Given the description of an element on the screen output the (x, y) to click on. 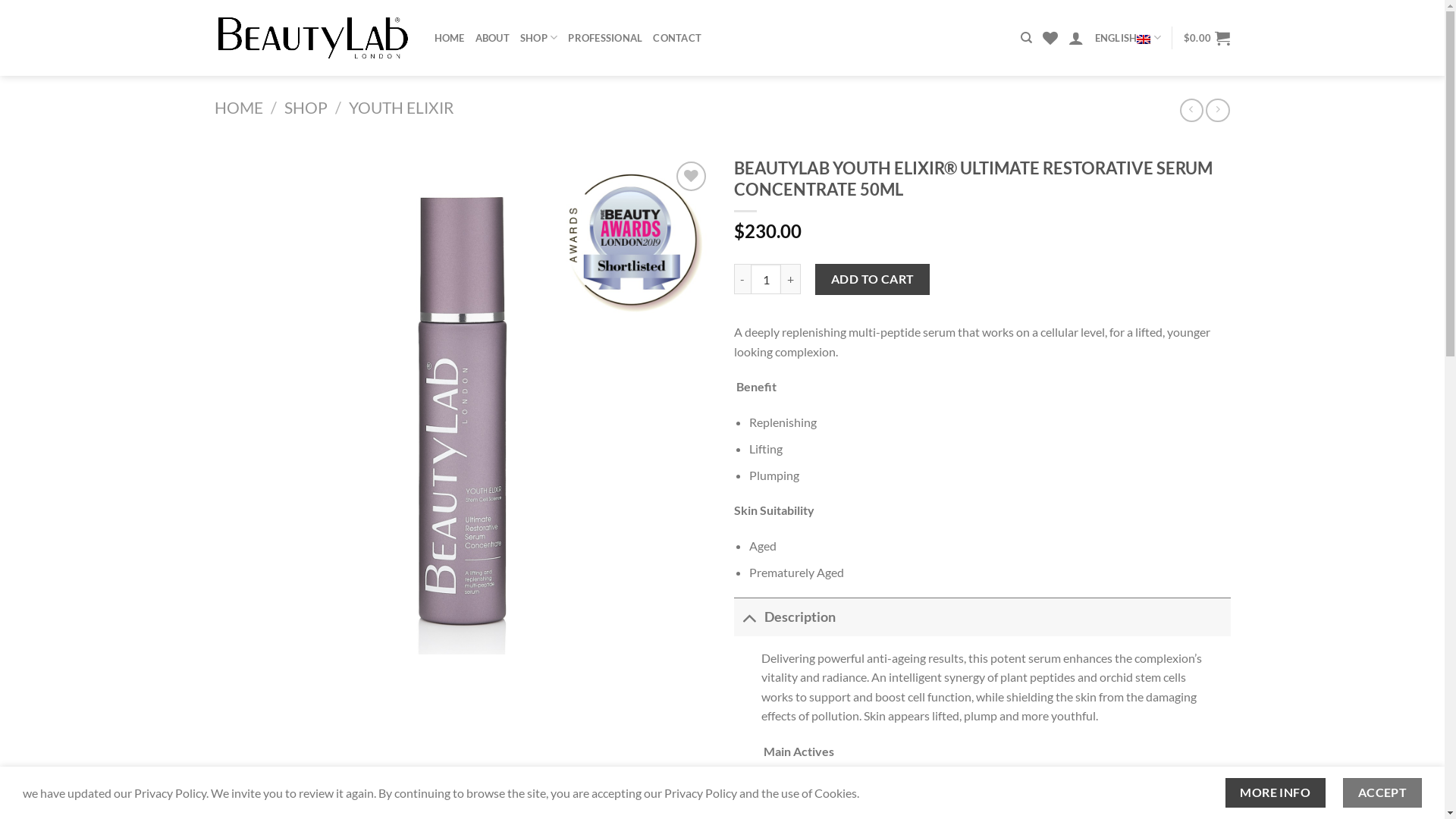
HOME Element type: text (448, 37)
ACCEPT Element type: text (1382, 792)
CONTACT Element type: text (676, 37)
Description Element type: text (982, 616)
PROFESSIONAL Element type: text (604, 37)
Youth-Elixir-Ultimate-Restorative-Serum-Concentrate teste Element type: hover (461, 405)
Qty Element type: hover (765, 278)
YOUTH ELIXIR Element type: text (401, 106)
ABOUT Element type: text (492, 37)
SHOP Element type: text (538, 37)
HOME Element type: text (237, 106)
ENGLISH Element type: text (1128, 37)
SHOP Element type: text (305, 106)
MORE INFO Element type: text (1275, 792)
$0.00 Element type: text (1206, 37)
Skip to content Element type: text (0, 0)
ADD TO CART Element type: text (872, 278)
